Given the description of an element on the screen output the (x, y) to click on. 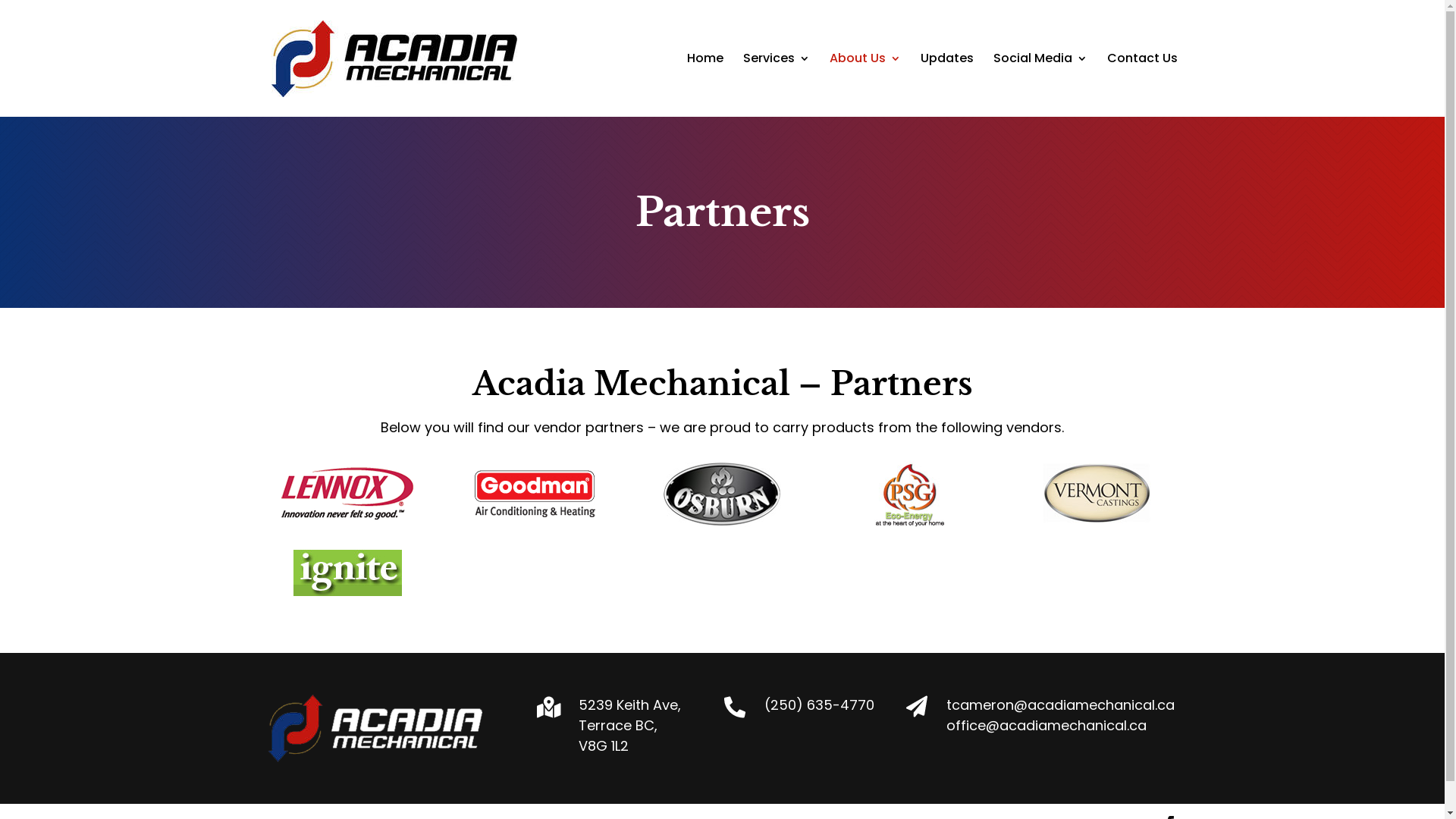
4145818_orig Element type: hover (534, 493)
tcameron@acadiamechanical.ca Element type: text (1060, 704)
psgLogo Element type: hover (909, 493)
Home Element type: text (705, 84)
5229185_orig Element type: hover (347, 572)
vermontLogo Element type: hover (1097, 493)
Updates Element type: text (946, 84)
About Us Element type: text (864, 84)
osburnLogo Element type: hover (721, 494)
Contact Us Element type: text (1142, 84)
(250) 635-4770 Element type: text (819, 704)
Social Media Element type: text (1040, 84)
lennoxLogo Element type: hover (347, 493)
Services Element type: text (776, 84)
office@acadiamechanical.ca Element type: text (1046, 724)
